Given the description of an element on the screen output the (x, y) to click on. 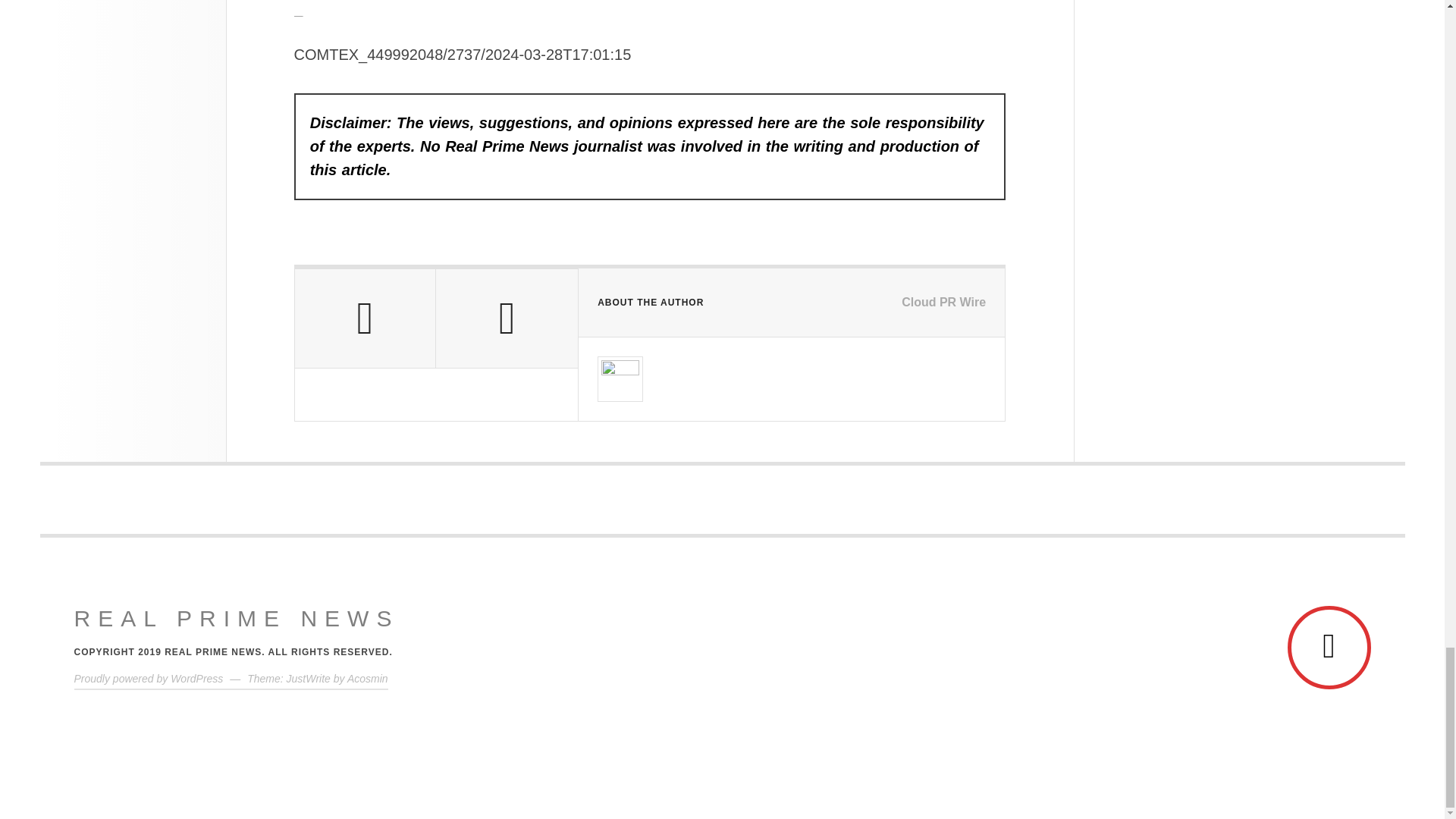
Real Prime News (236, 618)
Previous Post (364, 318)
Acosmin (367, 678)
Next Post (506, 318)
